Given the description of an element on the screen output the (x, y) to click on. 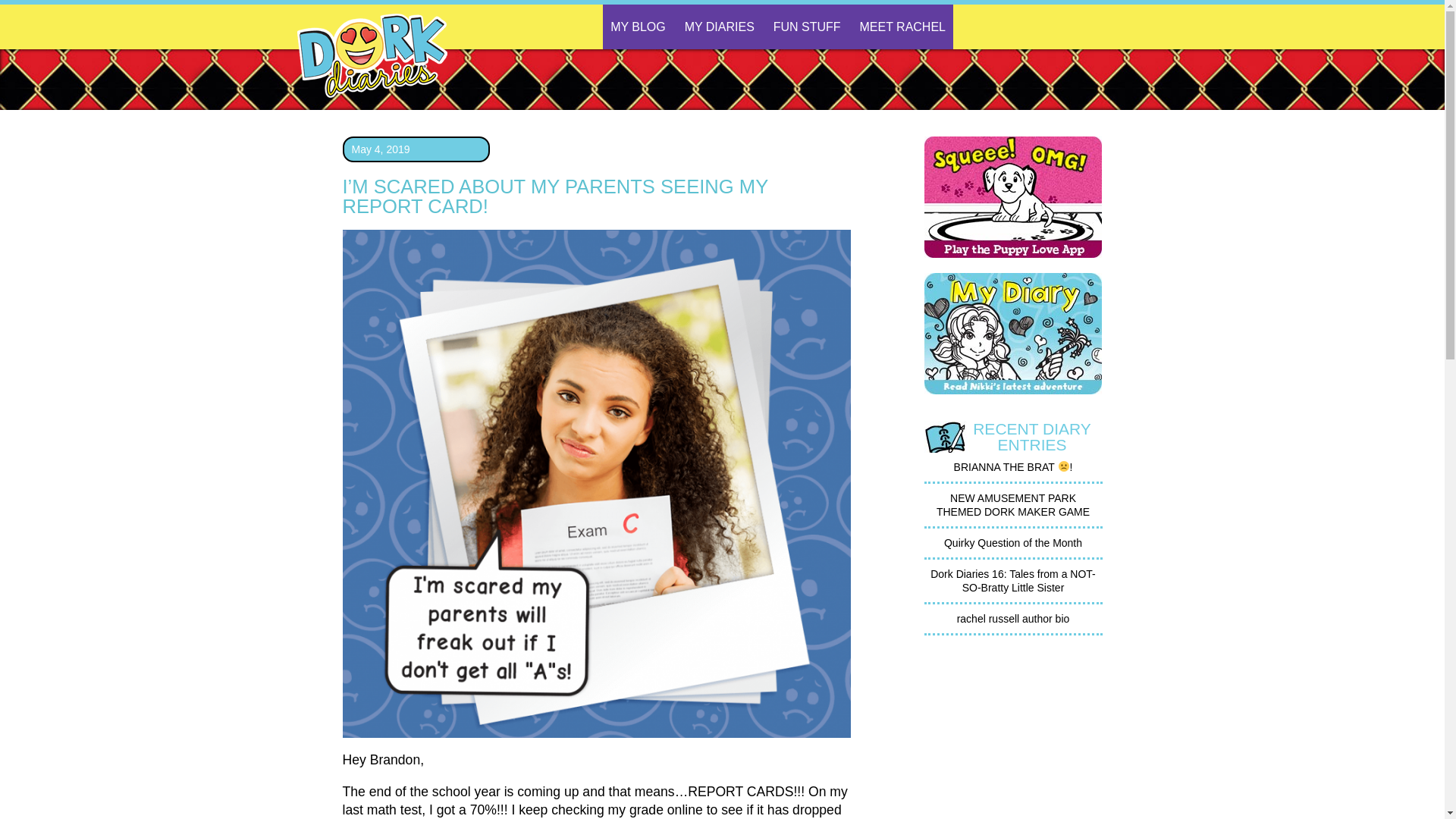
Dork Diaries 16: Tales from a NOT-SO-Bratty Little Sister (1013, 580)
MY DIARIES (719, 26)
FUN STUFF (806, 26)
MEET RACHEL (902, 26)
rachel russell author bio (1013, 618)
NEW AMUSEMENT PARK THEMED DORK MAKER GAME (1012, 504)
BRIANNA THE BRAT ! (1013, 467)
Quirky Question of the Month (1012, 542)
MY BLOG (637, 26)
